Given the description of an element on the screen output the (x, y) to click on. 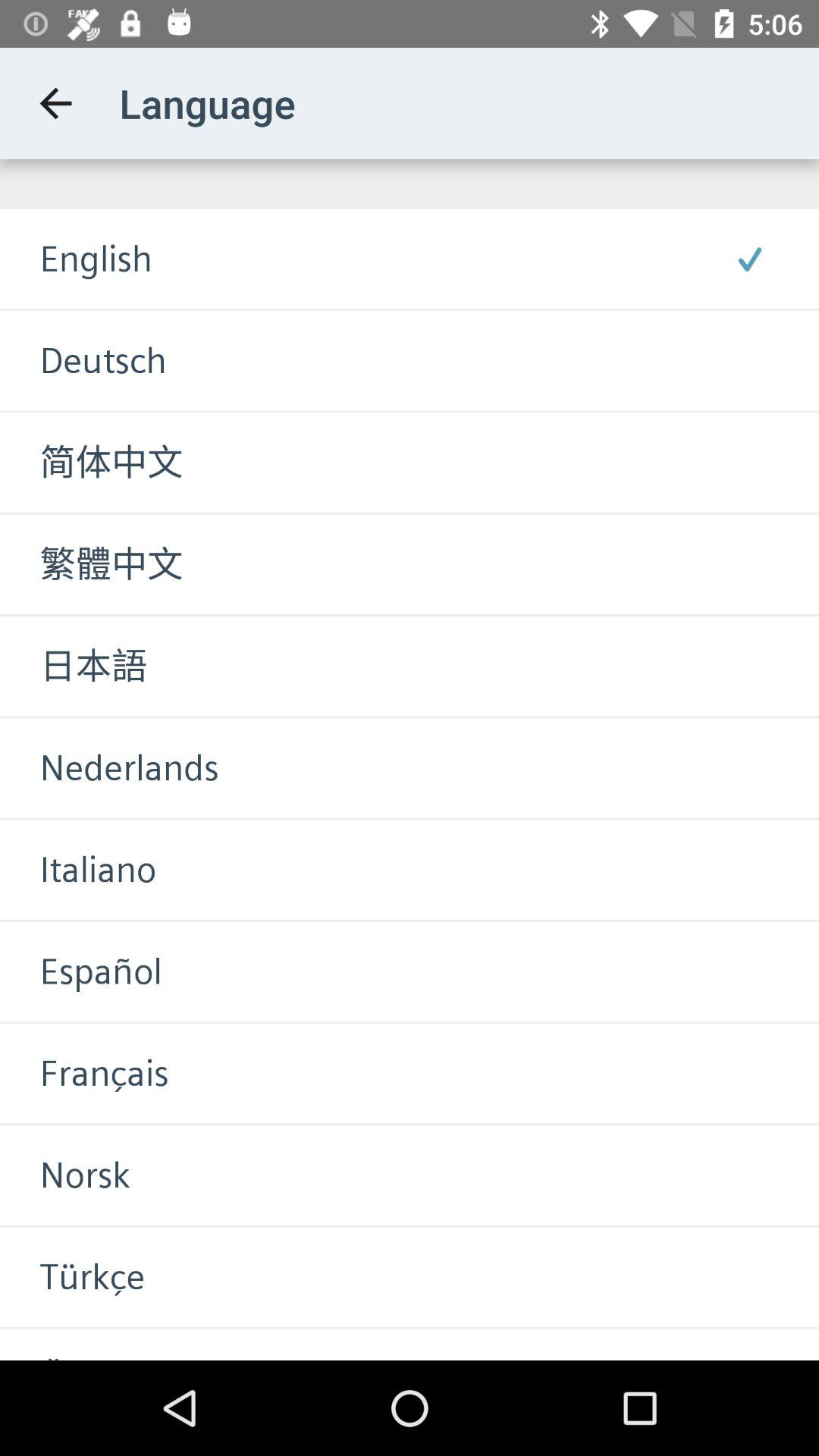
tap app to the left of the language icon (55, 103)
